Given the description of an element on the screen output the (x, y) to click on. 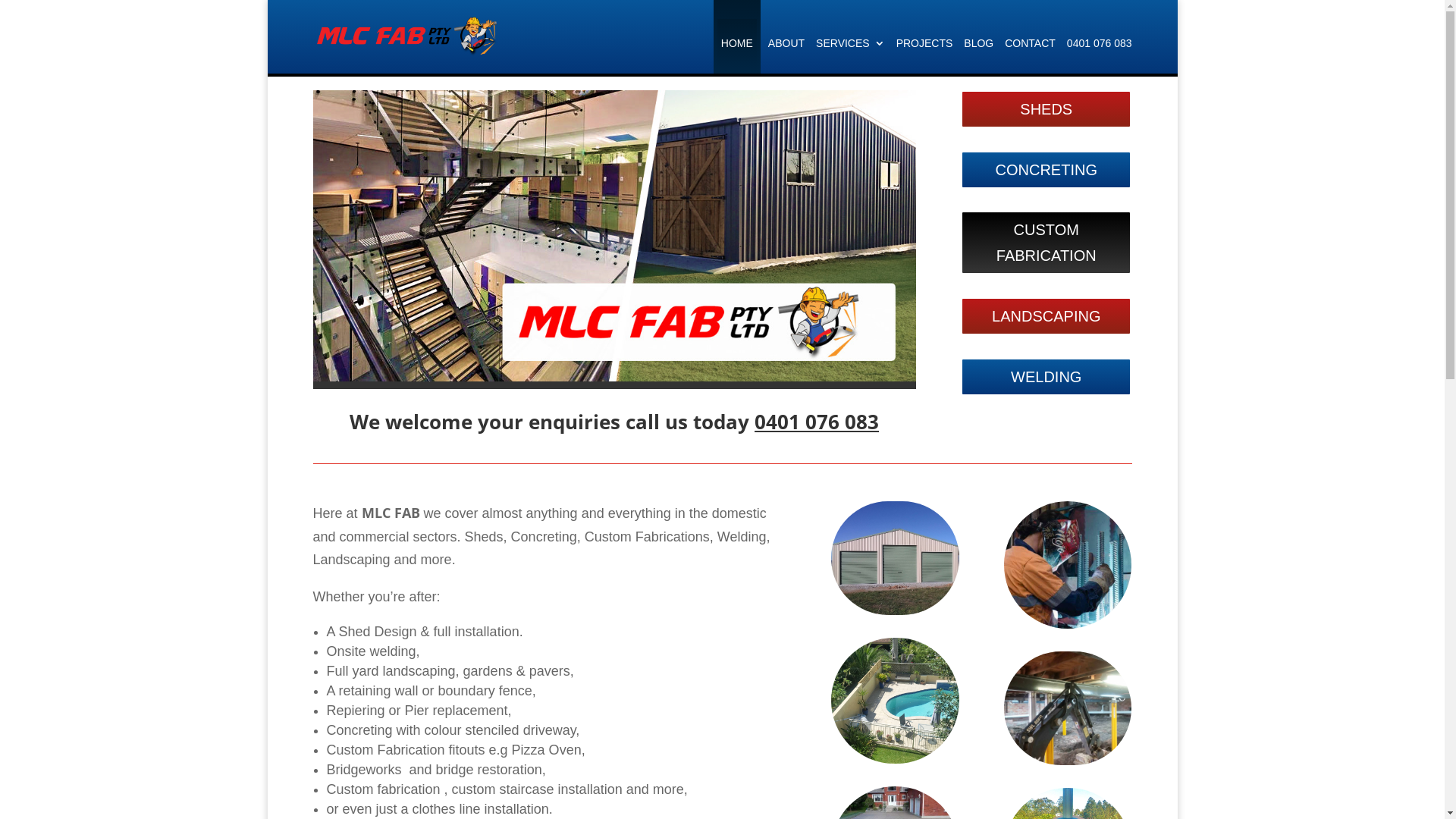
CUSTOM FABRICATION Element type: text (1045, 242)
CONCRETING Element type: text (1045, 169)
LANDSCAPING Element type: text (1045, 316)
HOME Element type: text (736, 45)
0401 076 083 Element type: text (816, 421)
0401 076 083 Element type: text (1099, 55)
BLOG Element type: text (978, 55)
SHEDS Element type: text (1045, 109)
WELDING Element type: text (1045, 376)
landscaping-hunter-valley-mlc-fab-landscaper-branxton Element type: hover (894, 700)
repiering-hunter-valley-piers-branxton Element type: hover (1067, 708)
ABOUT Element type: text (786, 55)
SERVICES Element type: text (849, 55)
CONTACT Element type: text (1029, 55)
sheds-hunter-valley-mlc-fabrications-hunter-valley Element type: hover (894, 558)
mlcfab-pty-ltd-hunter-valley-fabrication-branxton Element type: hover (613, 235)
PROJECTS Element type: text (924, 55)
welding-hunter-valley-mlc-fab-branxton-welder-hunter-valley Element type: hover (1067, 564)
